Given the description of an element on the screen output the (x, y) to click on. 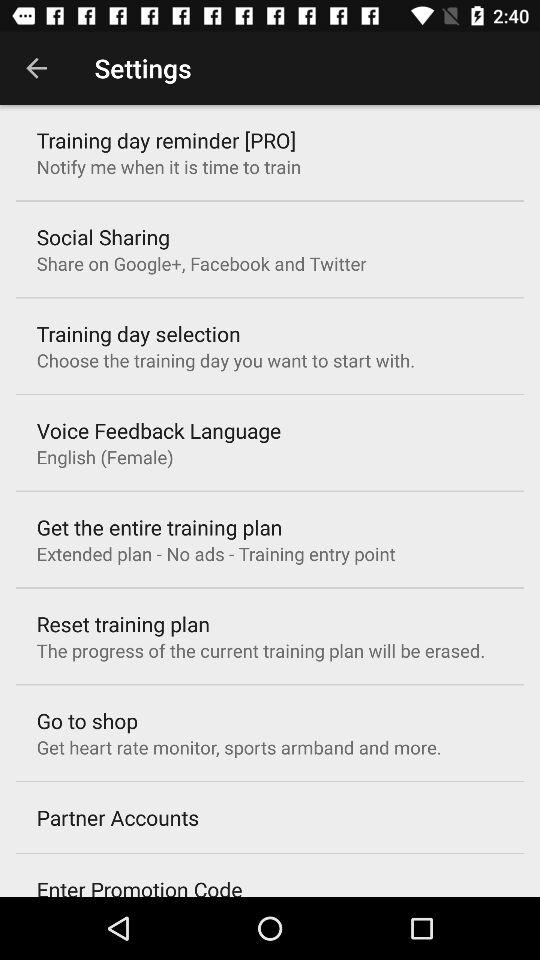
click item below partner accounts (139, 885)
